Given the description of an element on the screen output the (x, y) to click on. 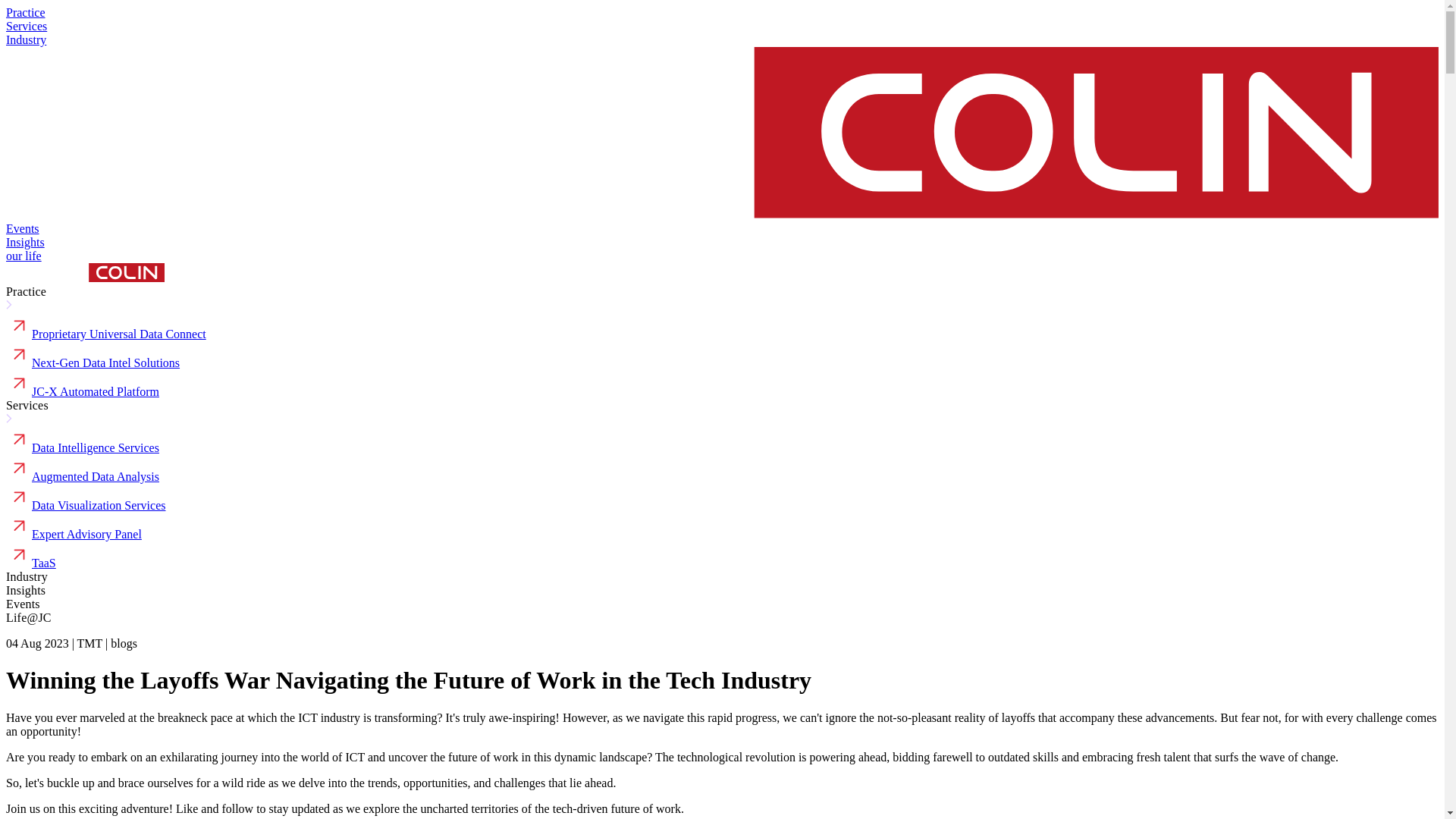
Data Intelligence Services (95, 447)
JC-X Automated Platform (95, 391)
Proprietary Universal Data Connect (119, 333)
TaaS (44, 562)
Augmented Data Analysis (95, 476)
Expert Advisory Panel (86, 533)
Next-Gen Data Intel Solutions (105, 362)
Data Visualization Services (98, 504)
